Given the description of an element on the screen output the (x, y) to click on. 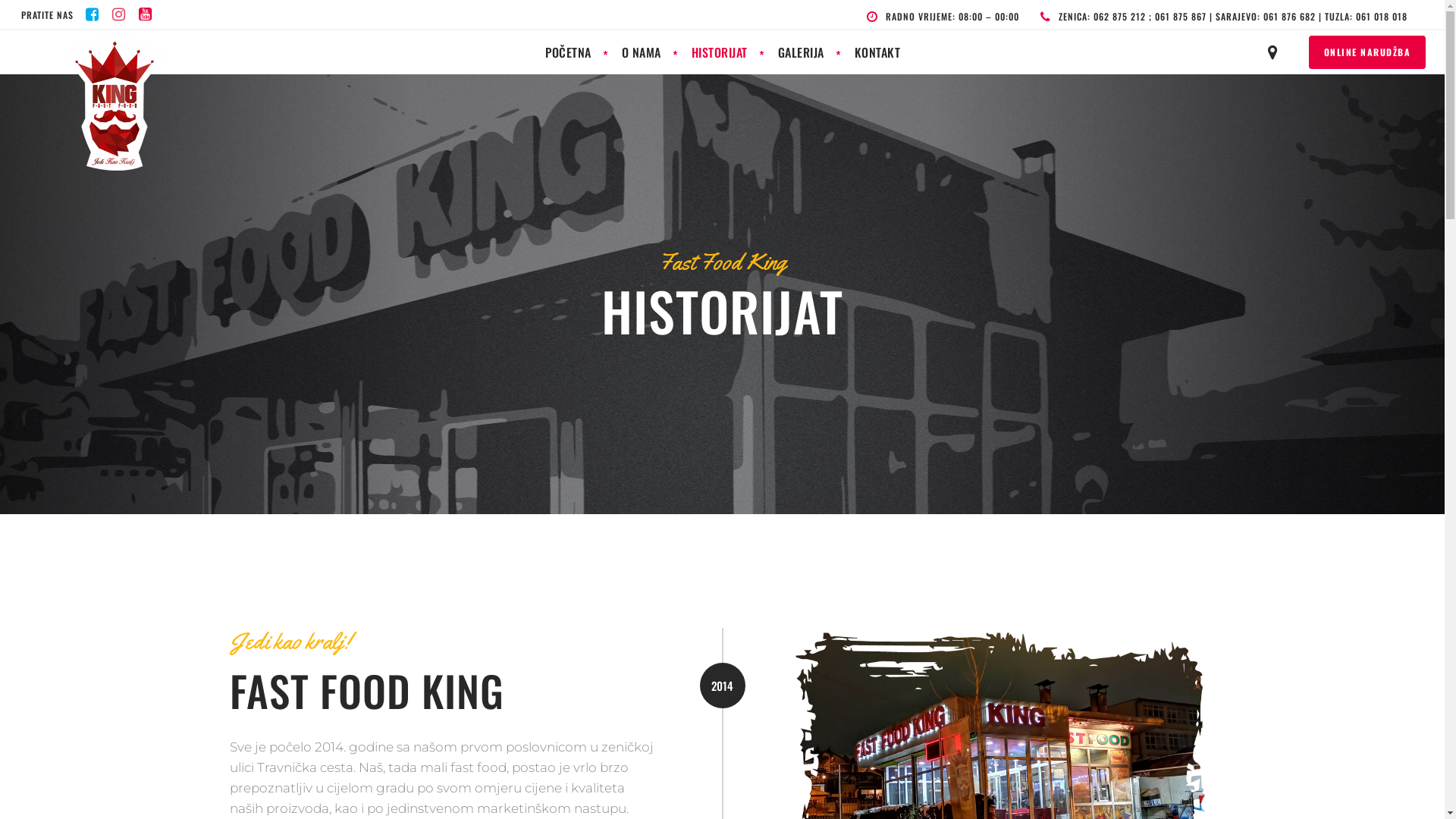
HISTORIJAT Element type: text (719, 52)
KONTAKT Element type: text (876, 52)
O NAMA Element type: text (641, 52)
GALERIJA Element type: text (800, 52)
